Given the description of an element on the screen output the (x, y) to click on. 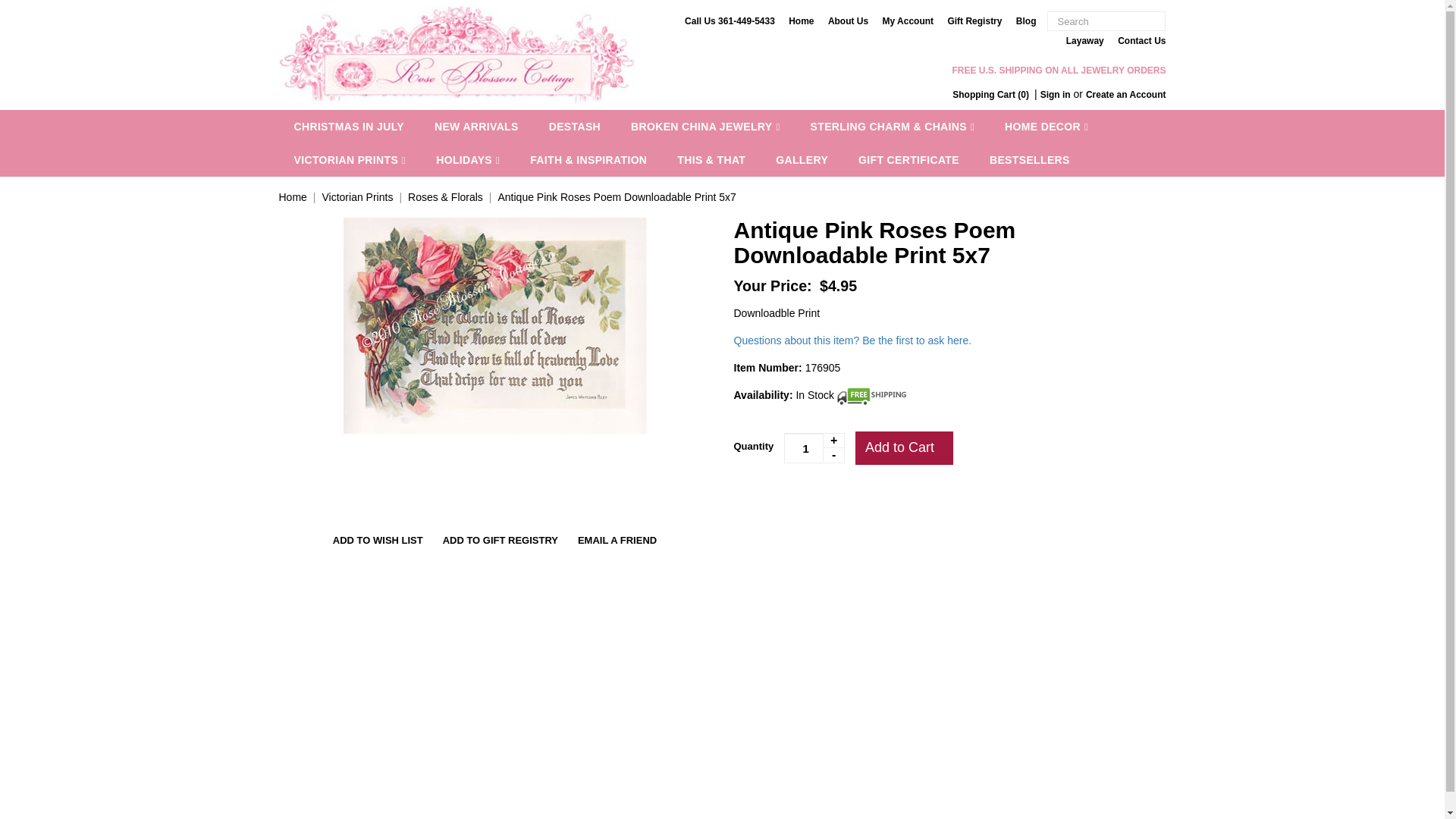
My Account (908, 20)
Blog (1026, 20)
Gift Registry (974, 20)
BROKEN CHINA JEWELRY (704, 126)
About Us (847, 20)
1 (814, 448)
Create an Account (1126, 94)
NEW ARRIVALS (476, 126)
Layaway (1084, 40)
Sign in (1055, 94)
CHRISTMAS IN JULY (349, 126)
361-449-5433 (745, 20)
DESTASH (574, 126)
Home (801, 20)
Contact Us (1142, 40)
